Given the description of an element on the screen output the (x, y) to click on. 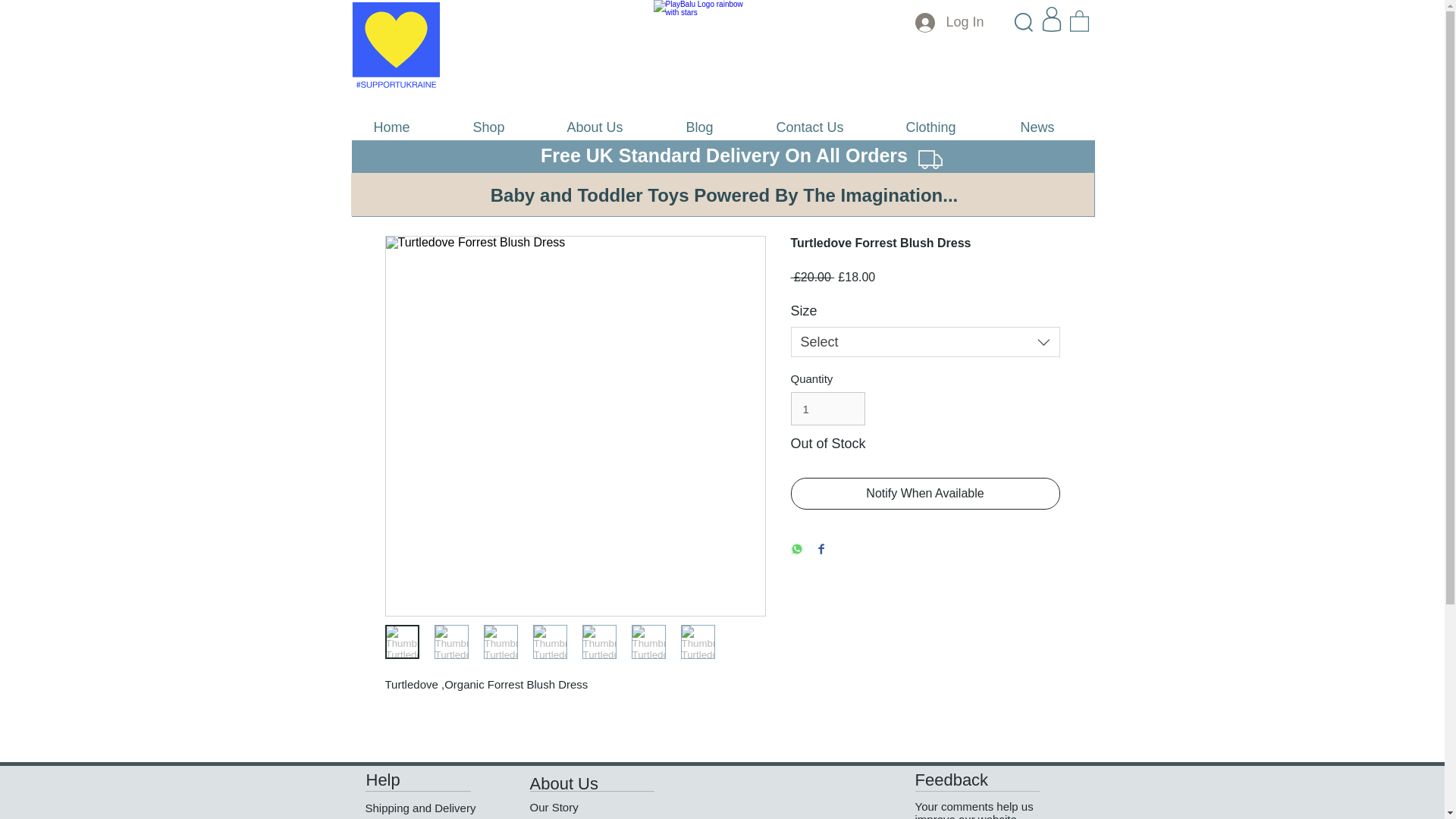
Select (924, 341)
Home (411, 127)
Clothing (952, 127)
Shop (507, 127)
Blog (720, 127)
News (1056, 127)
Log In (949, 22)
About Us (614, 127)
Shipping and Delivery (420, 807)
Notify When Available (924, 493)
